Given the description of an element on the screen output the (x, y) to click on. 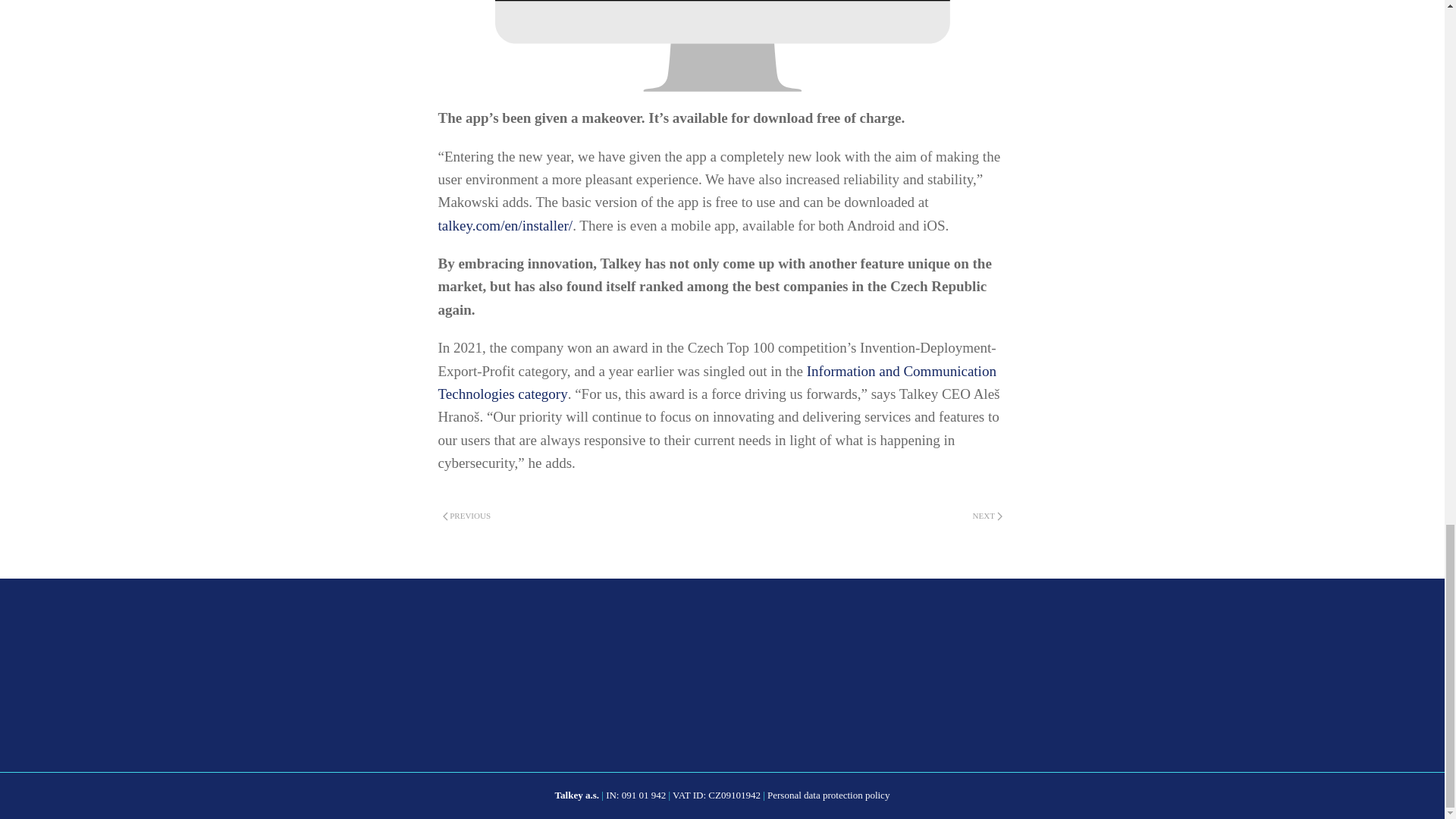
Information and Communication Technologies category (716, 382)
PREVIOUS (467, 515)
NEXT (987, 515)
